Given the description of an element on the screen output the (x, y) to click on. 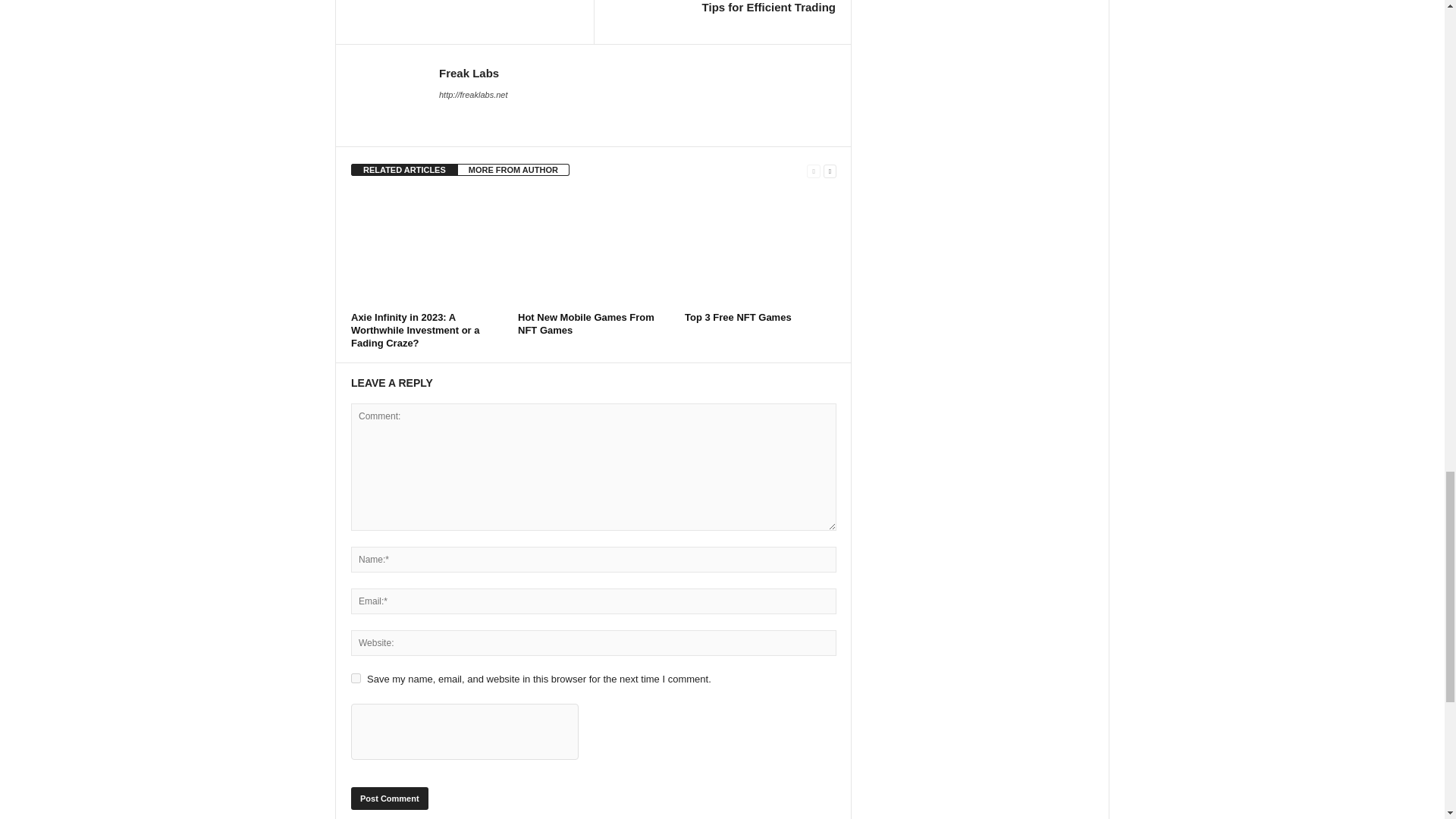
yes (355, 678)
Post Comment (389, 798)
